Given the description of an element on the screen output the (x, y) to click on. 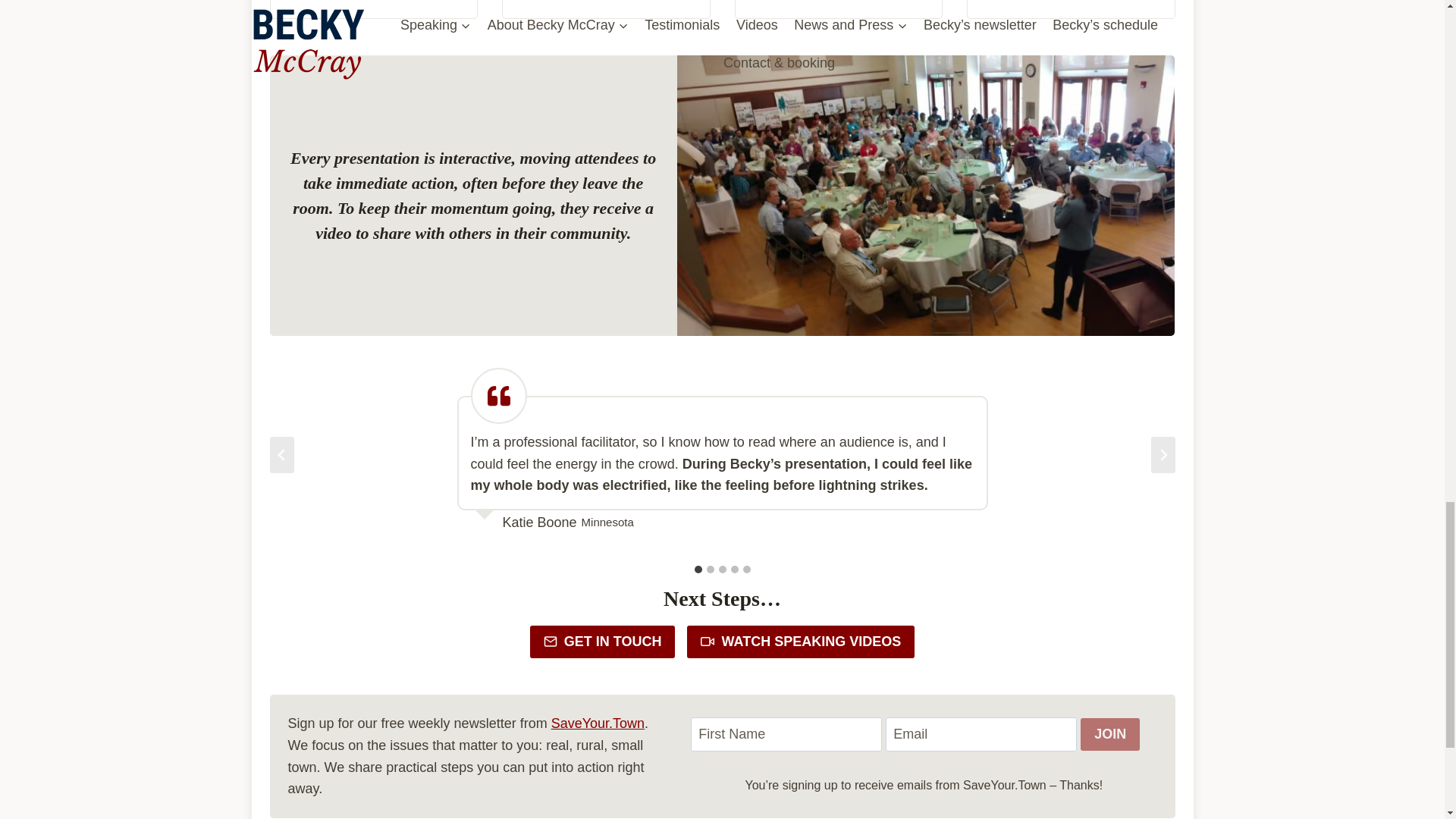
WATCH SPEAKING VIDEOS (800, 641)
GET IN TOUCH (602, 641)
Join (1110, 734)
